Given the description of an element on the screen output the (x, y) to click on. 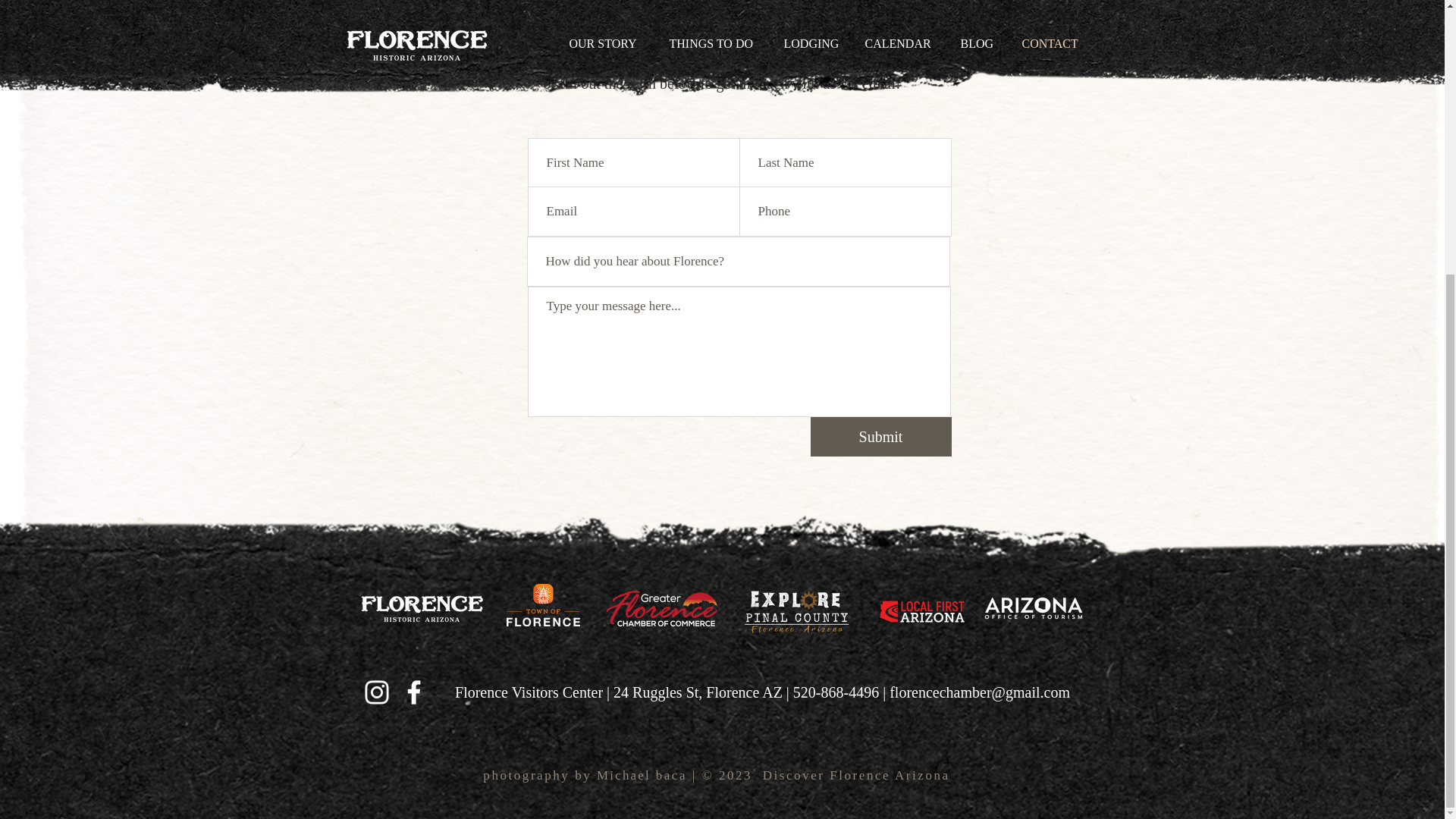
Submit (879, 436)
520-868-4496 (836, 692)
520-868-4496 (721, 37)
